Given the description of an element on the screen output the (x, y) to click on. 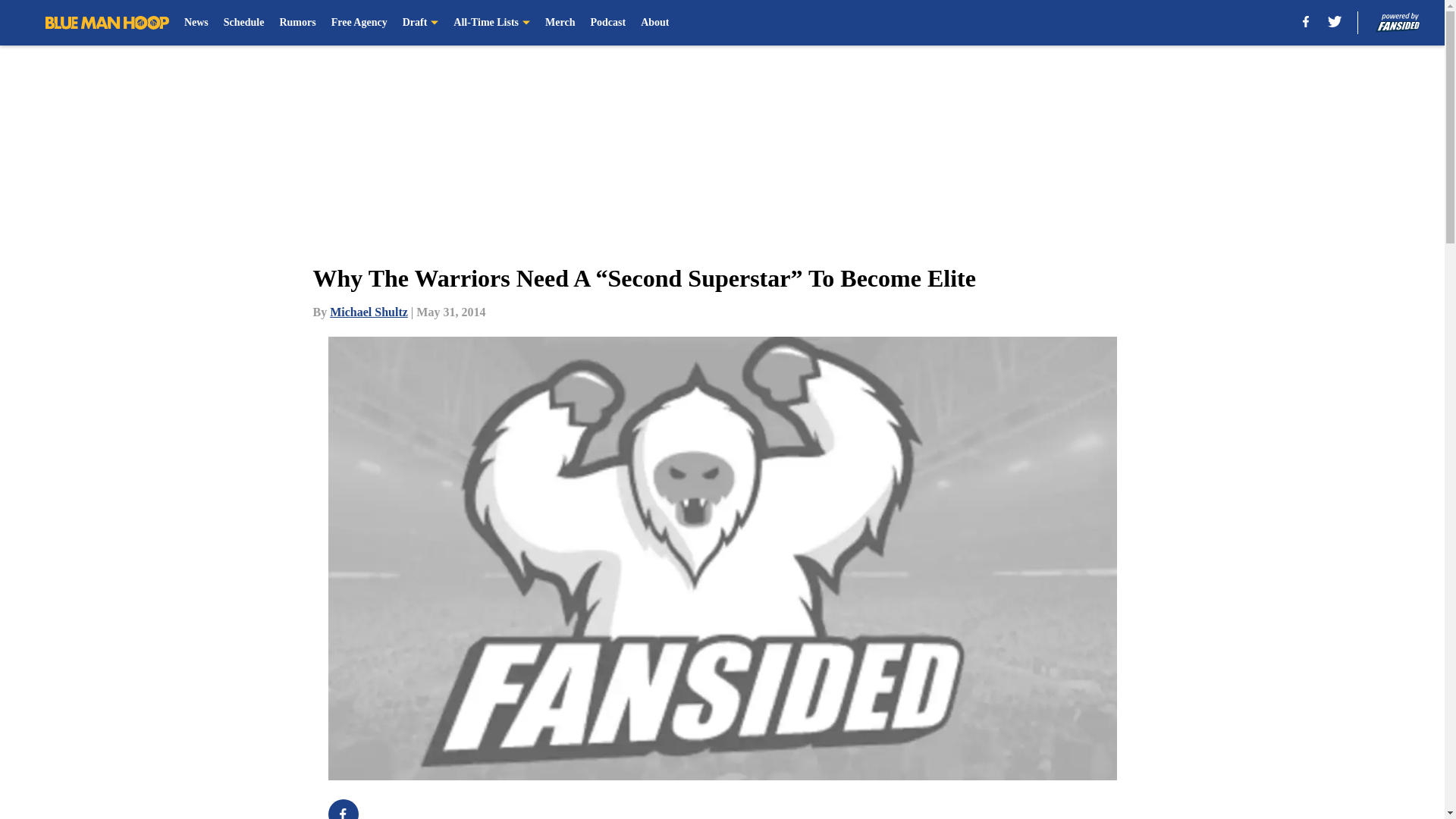
Rumors (297, 22)
Podcast (607, 22)
Schedule (244, 22)
News (196, 22)
All-Time Lists (490, 22)
Michael Shultz (368, 311)
Free Agency (359, 22)
About (654, 22)
Merch (559, 22)
Draft (421, 22)
